Given the description of an element on the screen output the (x, y) to click on. 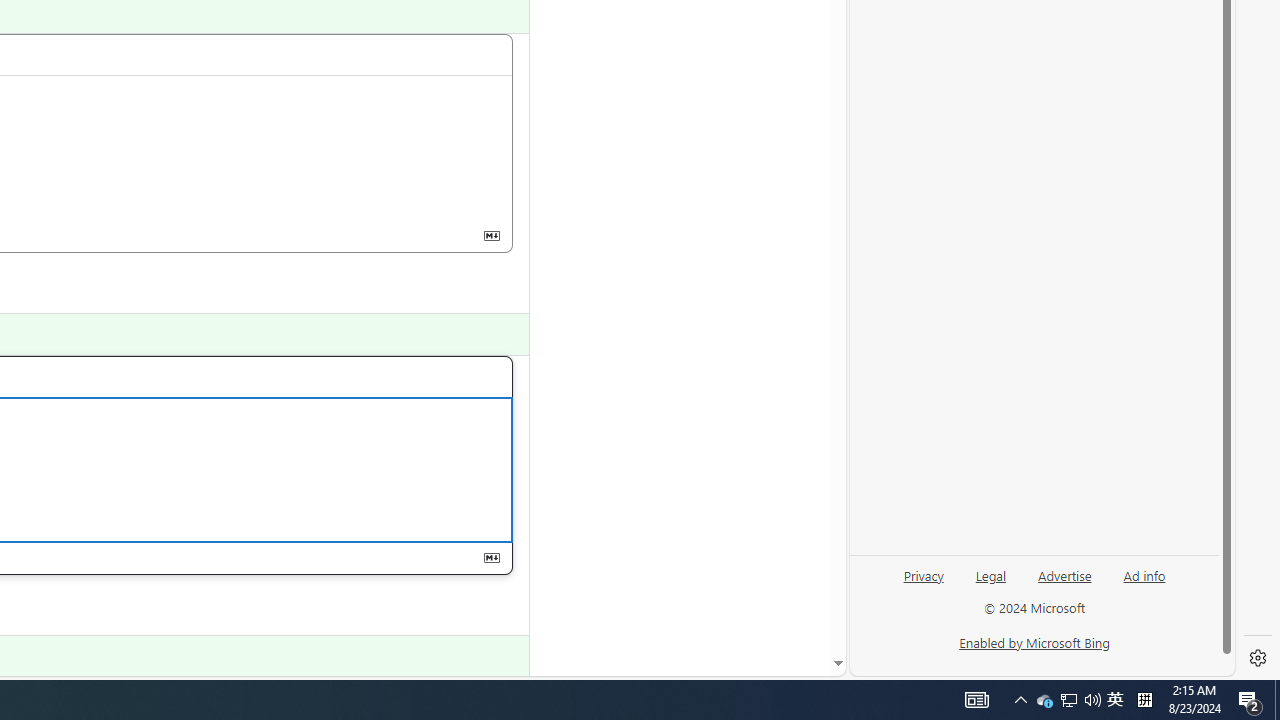
Advertise (1064, 583)
Privacy (923, 574)
Settings (1258, 658)
Legal (991, 574)
Class: s16 gl-icon gl-button-icon  (491, 556)
Advertise (1064, 574)
Privacy (923, 583)
Legal (990, 583)
Ad info (1144, 574)
Ad info (1144, 583)
